Given the description of an element on the screen output the (x, y) to click on. 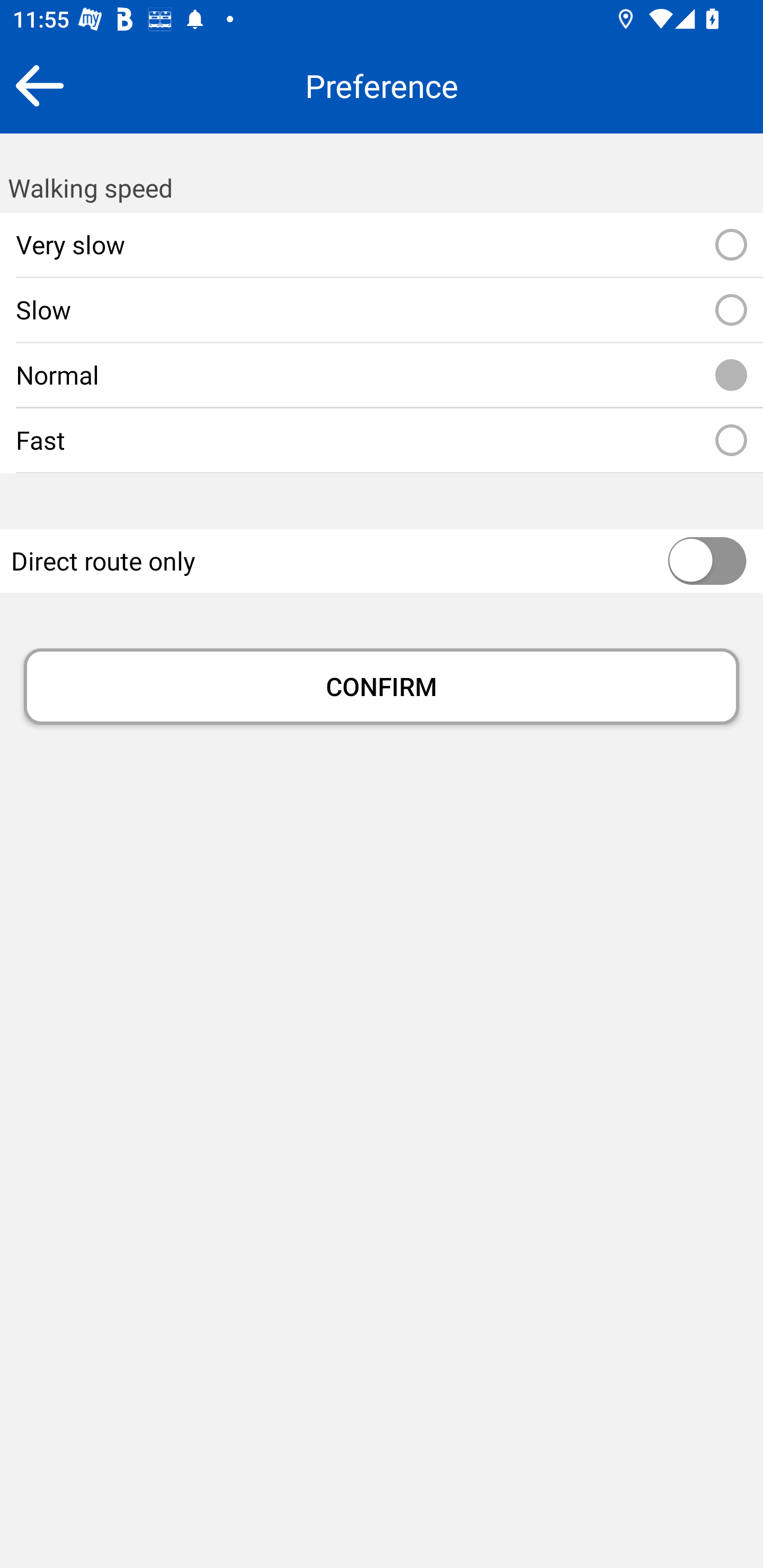
Back (39, 85)
Very slow (730, 244)
Slow (730, 310)
Normal (730, 374)
Fast (730, 440)
Direct route only (668, 560)
CONFIRM (381, 686)
